Given the description of an element on the screen output the (x, y) to click on. 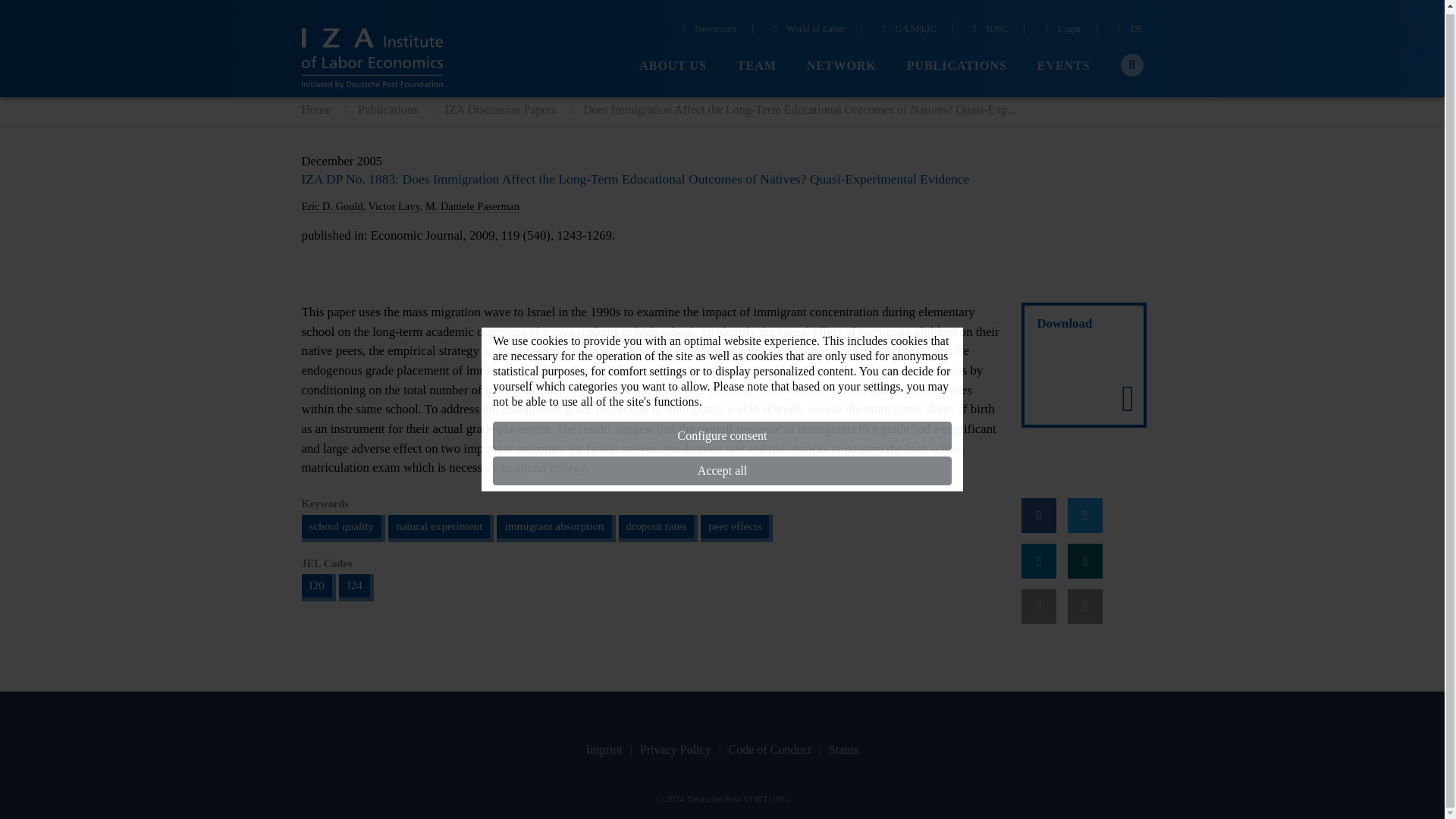
EVENTS (1063, 62)
TEAM (756, 62)
IDSC (988, 27)
ABOUT US (672, 62)
World of Labor (807, 27)
NETWORK (841, 62)
Newsroom (707, 27)
Login (1060, 27)
DE (1127, 27)
PUBLICATIONS (957, 62)
